Given the description of an element on the screen output the (x, y) to click on. 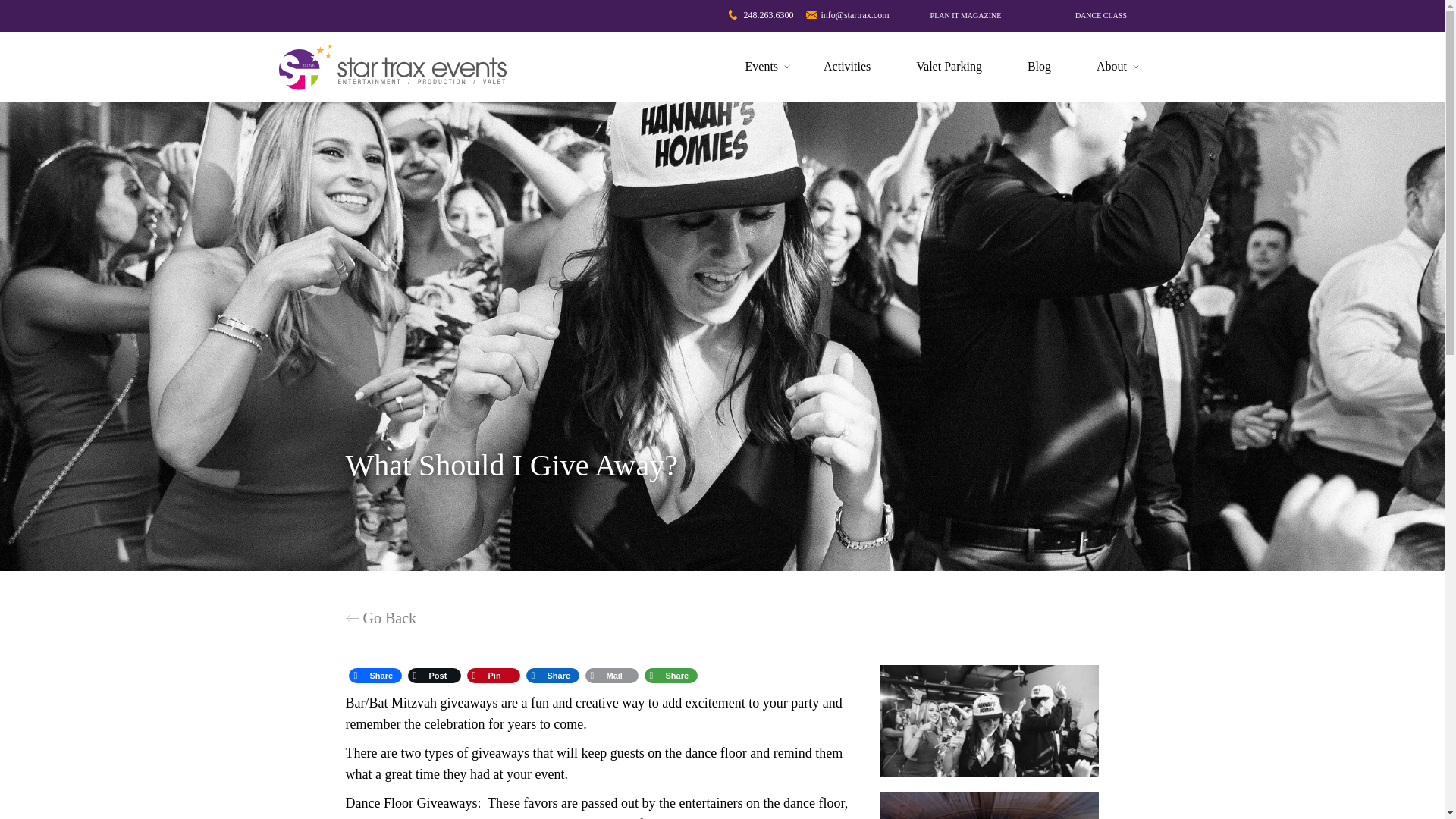
LinkedIn (552, 675)
DANCE CLASS (1100, 15)
More Options (671, 675)
Facebook (375, 675)
Pinterest (493, 675)
Go Back (534, 618)
248.263.6300 (760, 15)
Blog (1039, 67)
About (1112, 67)
Valet Parking (948, 67)
